Given the description of an element on the screen output the (x, y) to click on. 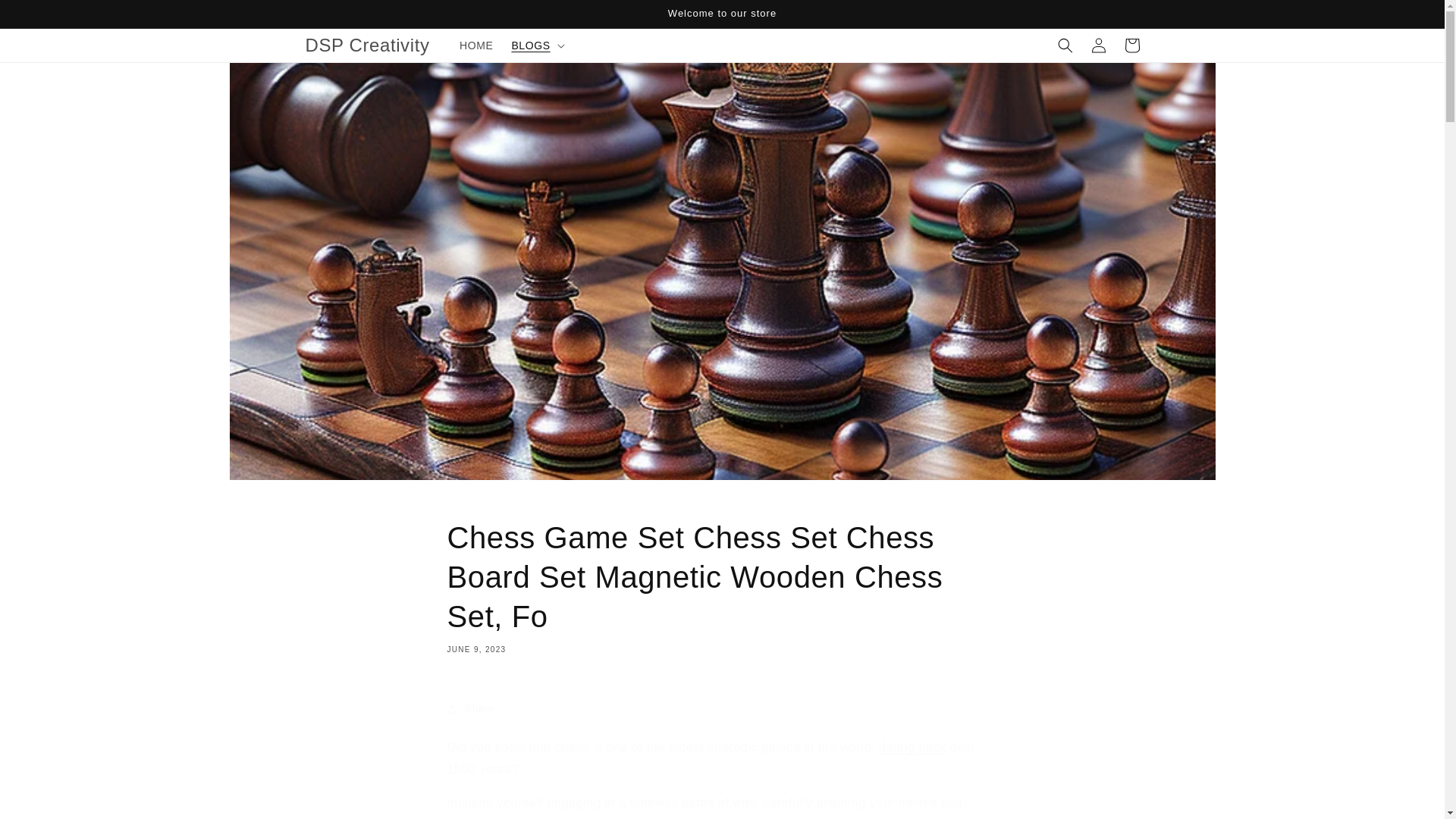
HOME (475, 45)
Cart (1131, 45)
dating back (911, 747)
dating back (911, 747)
Log in (1098, 45)
Skip to content (45, 17)
DSP Creativity (367, 44)
Share (721, 708)
